Given the description of an element on the screen output the (x, y) to click on. 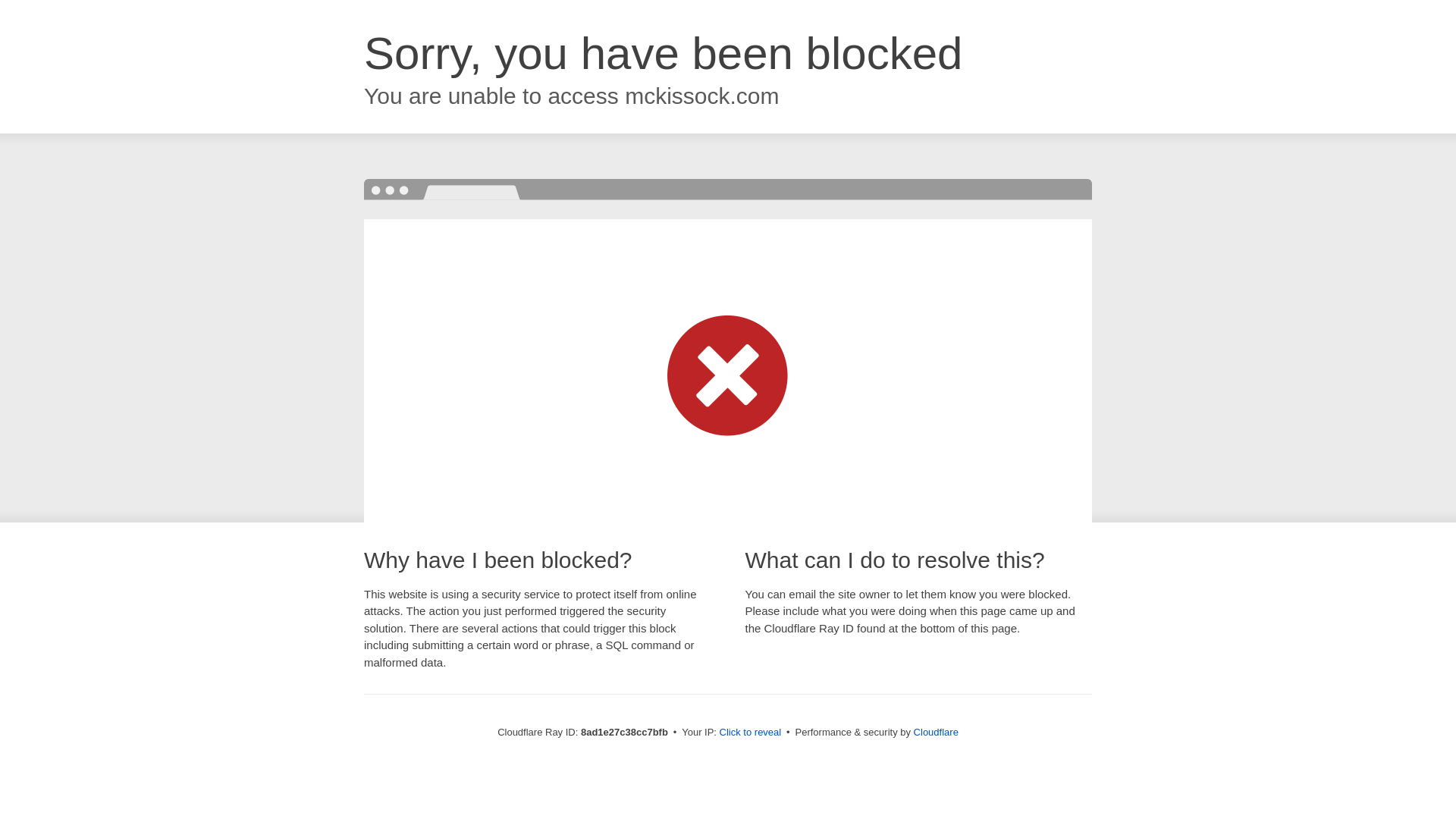
Click to reveal (750, 732)
Cloudflare (936, 731)
